Given the description of an element on the screen output the (x, y) to click on. 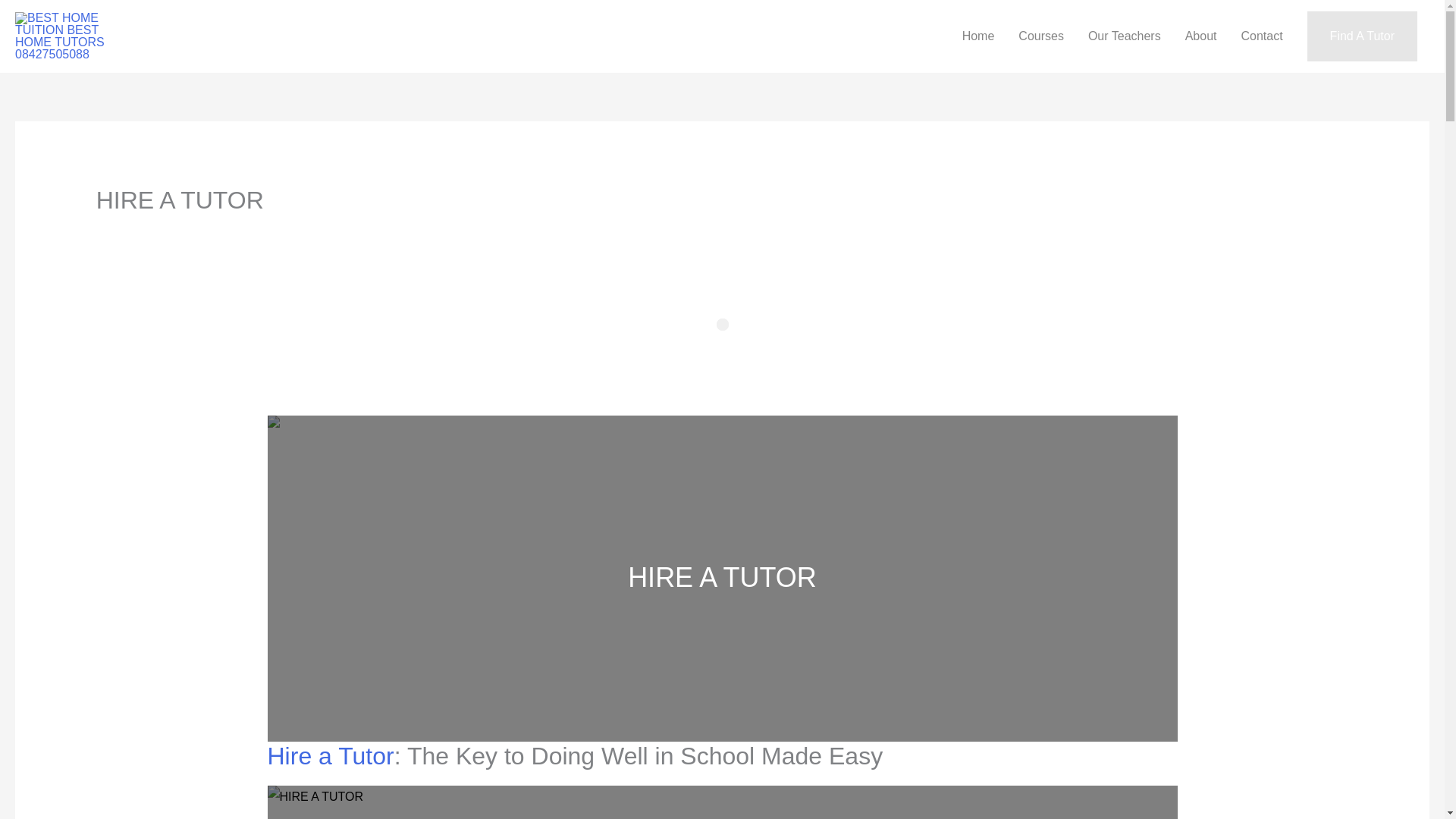
Our Teachers (1124, 36)
Hire a Tutor (329, 755)
Contact (1261, 36)
Find A Tutor (1361, 36)
Courses (1040, 36)
